Given the description of an element on the screen output the (x, y) to click on. 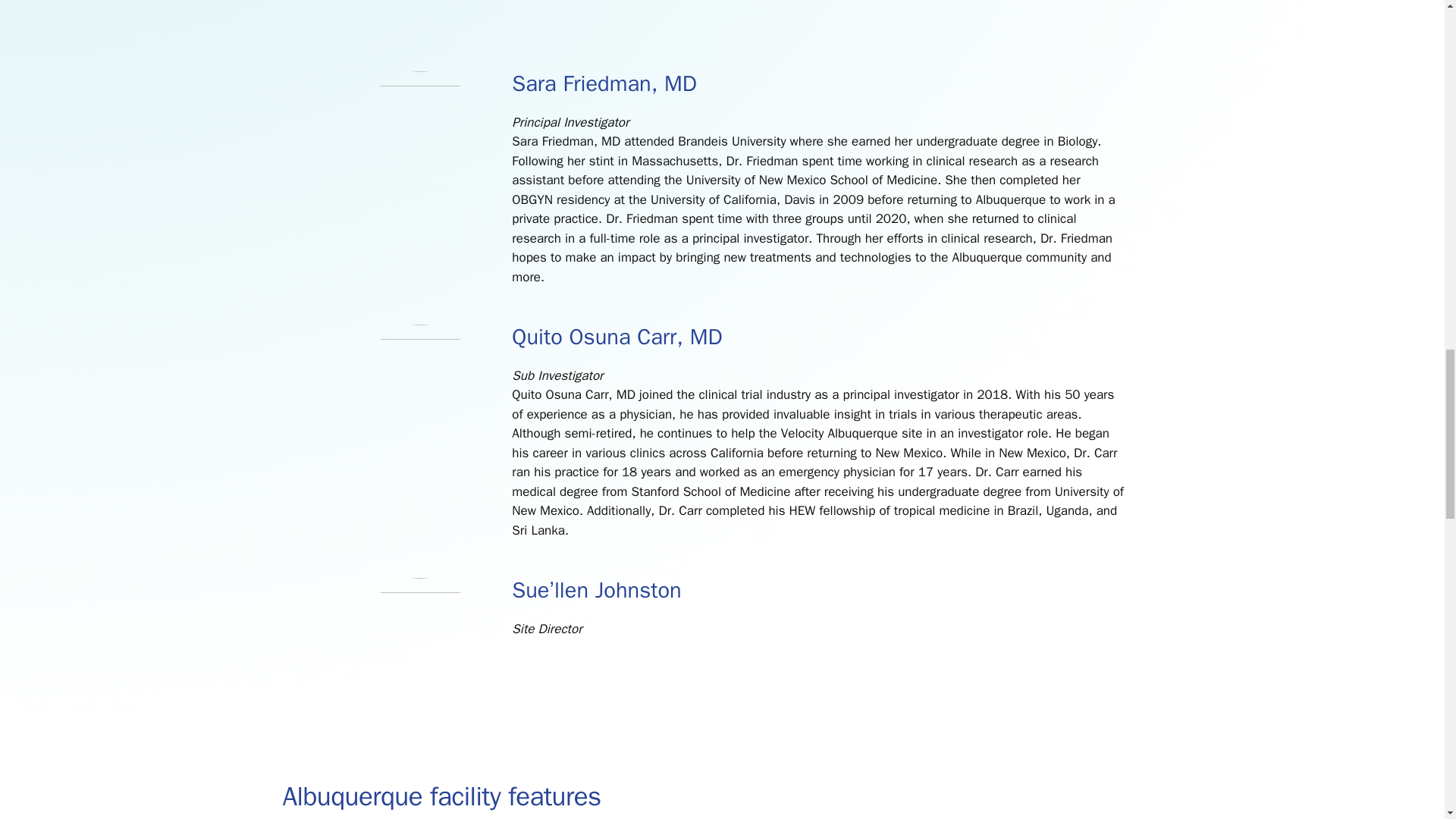
Quito Osuna Carr, MD (420, 335)
Quito Osuna Carr, MD (617, 336)
Sara Friedman, MD (604, 83)
Sara Friedman, MD (420, 82)
